Given the description of an element on the screen output the (x, y) to click on. 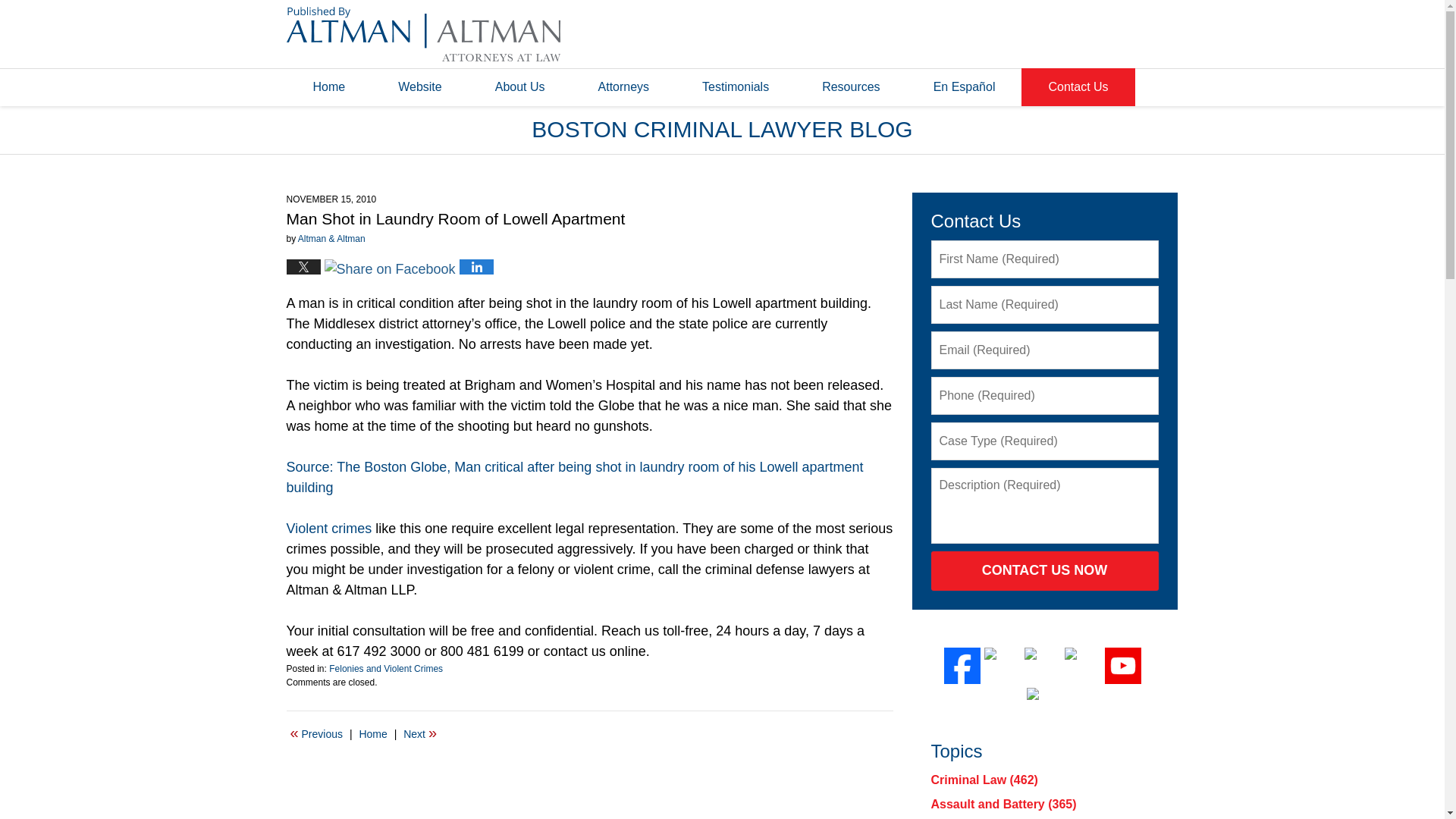
Home (329, 86)
Boston Criminal Lawyer Blog (423, 33)
Resources (849, 86)
Justia (1082, 665)
Home (372, 733)
Facebook (961, 665)
Contact Us (1078, 86)
Violent crimes (329, 528)
View all posts in Felonies and Violent Crimes (385, 668)
LinkedIn (1043, 665)
Please enter a valid phone number. (1044, 395)
Website (419, 86)
CONTACT US NOW (1044, 570)
Attorneys (624, 86)
